Given the description of an element on the screen output the (x, y) to click on. 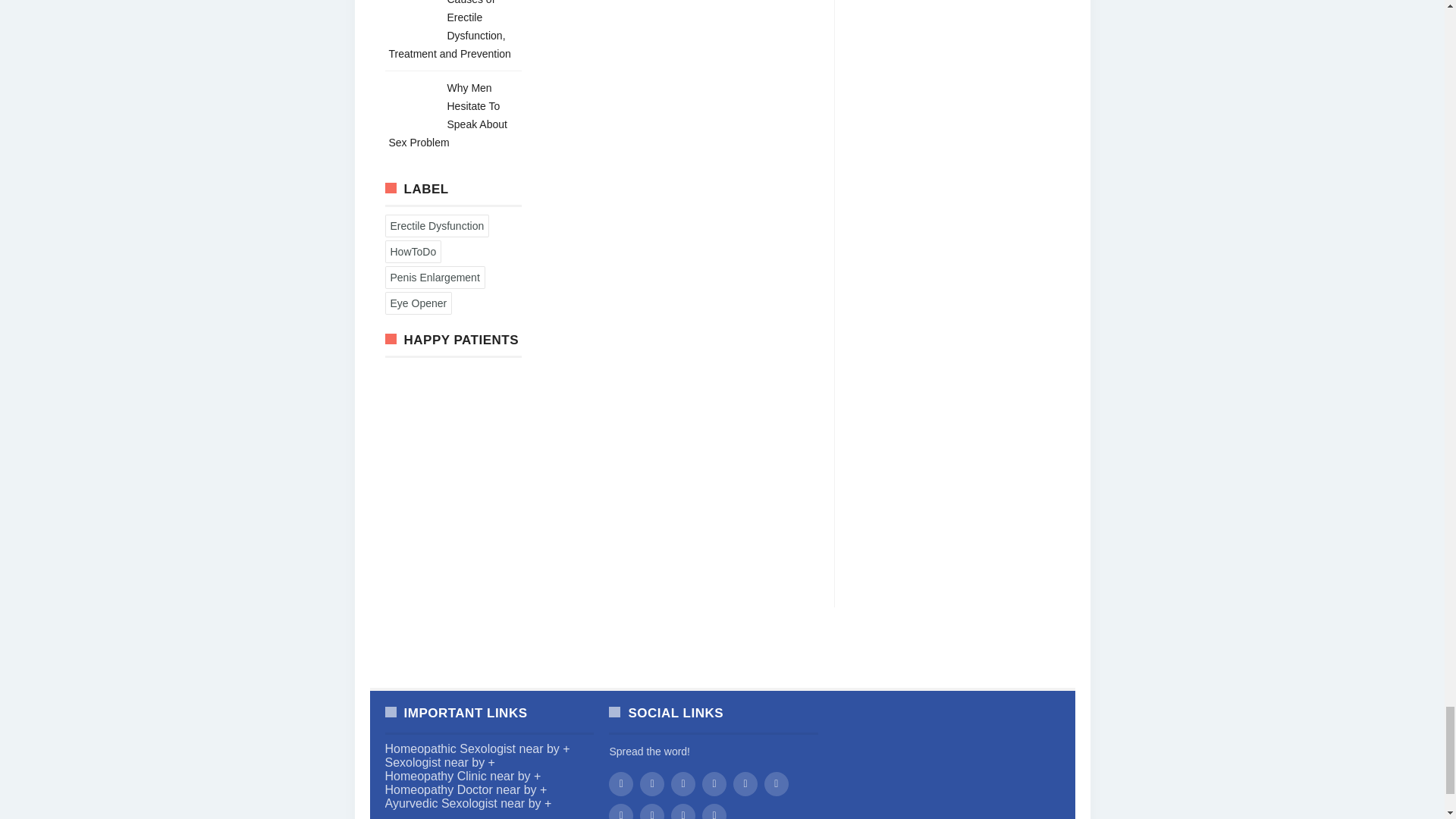
Why Men Hesitate To Speak About Sex Problem (447, 114)
Causes of Erectile Dysfunction, Treatment and Prevention (449, 29)
HowToDo (413, 251)
Erectile Dysfunction (436, 225)
